Given the description of an element on the screen output the (x, y) to click on. 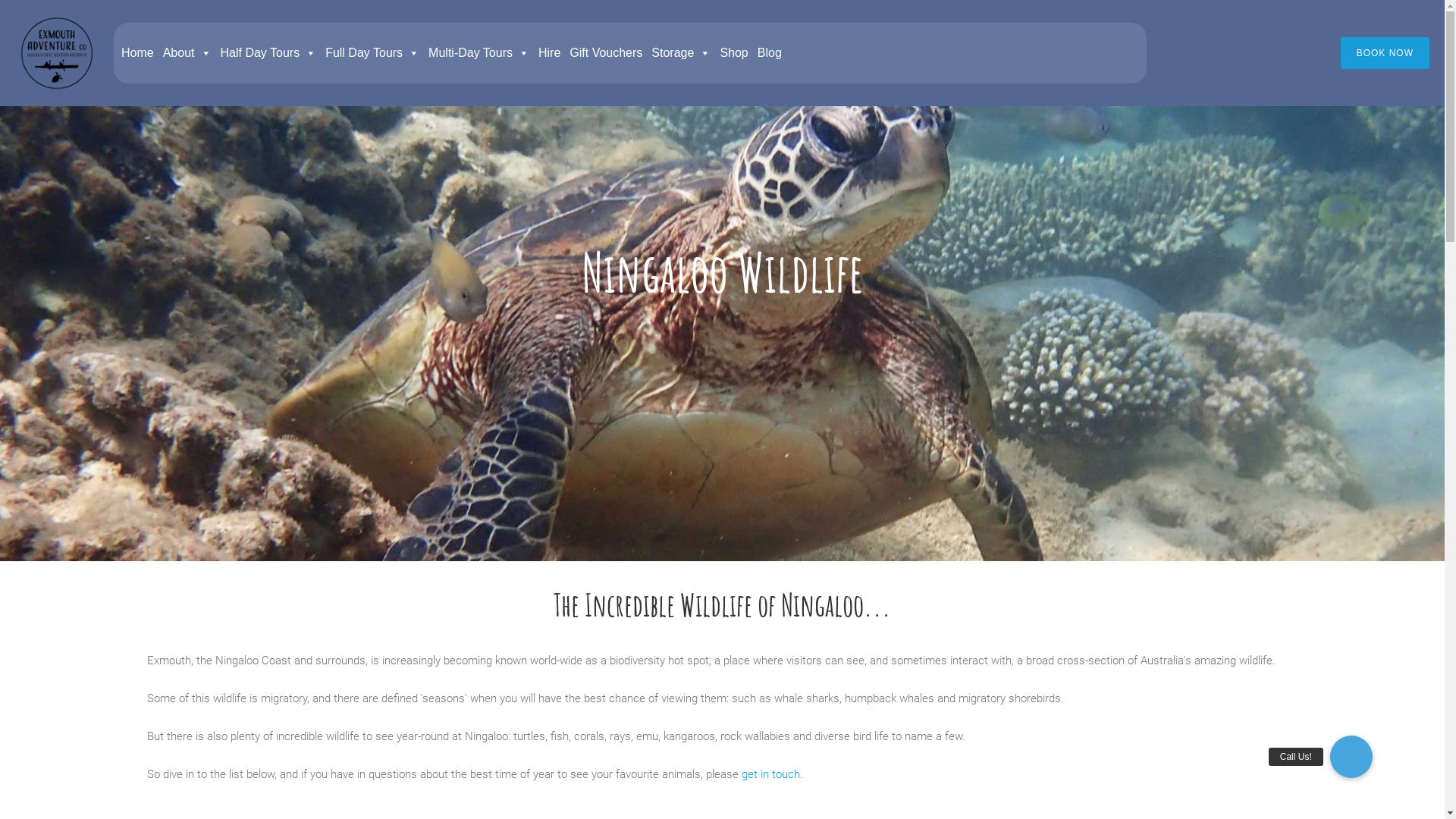
BOOK NOW Element type: text (1384, 53)
get in touch Element type: text (770, 774)
Full Day Tours Element type: text (372, 52)
Multi-Day Tours Element type: text (478, 52)
Half Day Tours Element type: text (267, 52)
Hire Element type: text (549, 52)
Storage Element type: text (680, 52)
About Element type: text (187, 52)
Gift Vouchers Element type: text (605, 52)
Blog Element type: text (769, 52)
Call Us! Element type: text (1351, 756)
Shop Element type: text (733, 52)
Home Element type: text (137, 52)
